Given the description of an element on the screen output the (x, y) to click on. 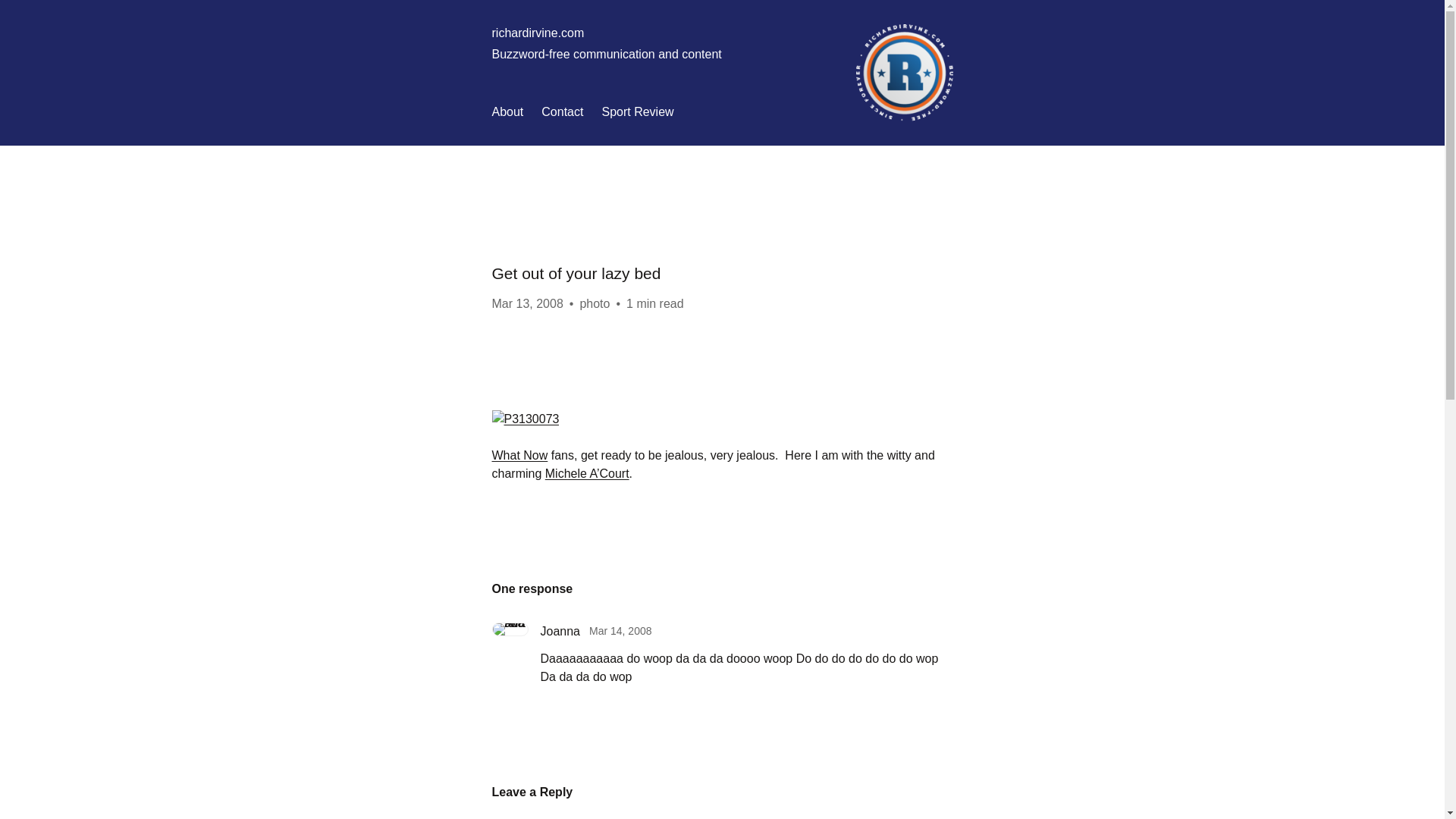
Contact (562, 112)
richardirvine.com (537, 32)
What Now (519, 454)
Sport Review (636, 112)
Mar 14, 2008 (620, 630)
Joanna (559, 631)
P3130073 by richirvine73, on Flickr (525, 418)
About (507, 112)
photo (594, 303)
